Given the description of an element on the screen output the (x, y) to click on. 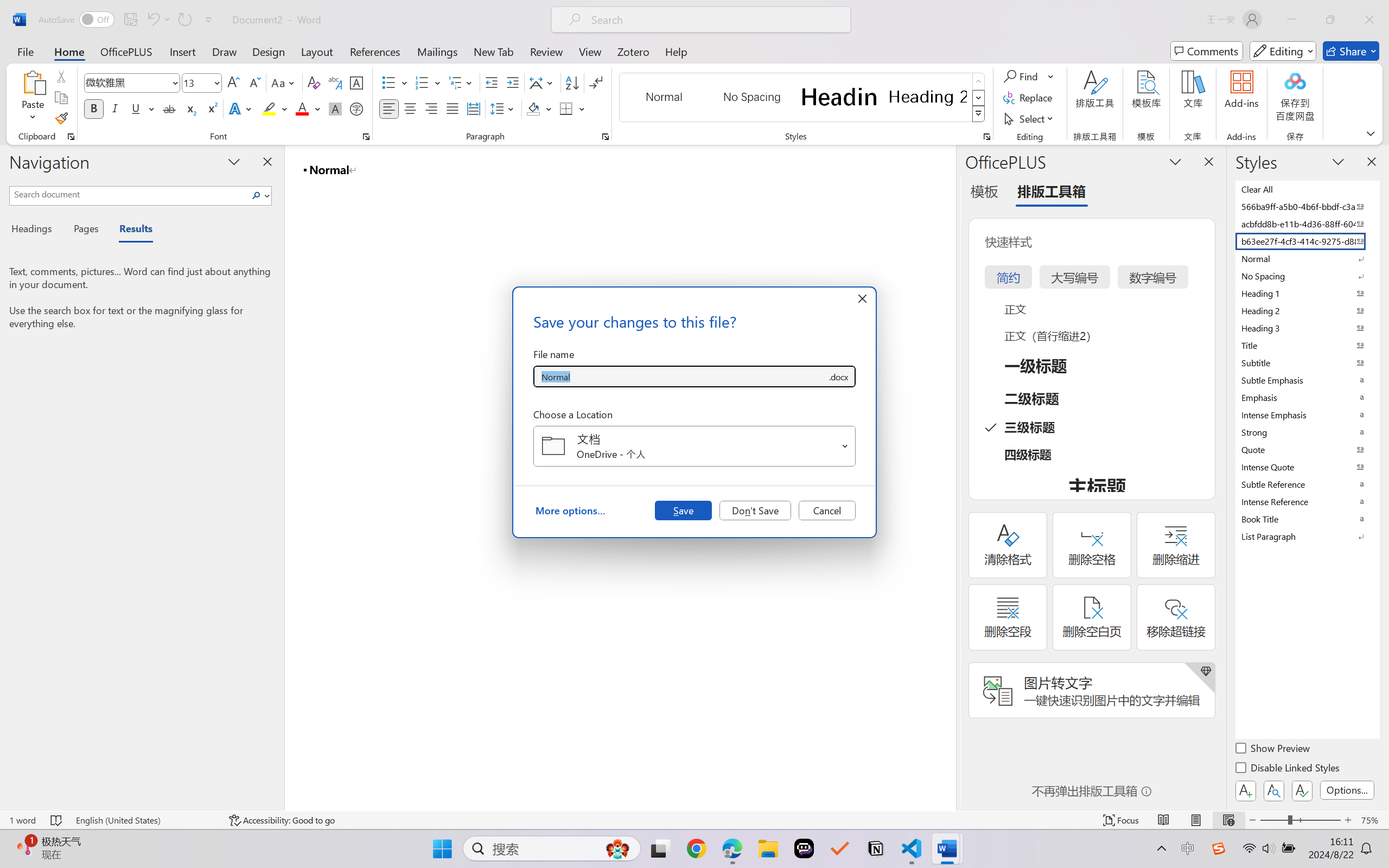
Format Painter (60, 118)
AutoSave (76, 19)
Decrease Indent (491, 82)
Subtle Reference (1306, 484)
Open (844, 446)
Strikethrough (169, 108)
Italic (115, 108)
Language English (United States) (144, 819)
Customize Quick Access Toolbar (208, 19)
